Given the description of an element on the screen output the (x, y) to click on. 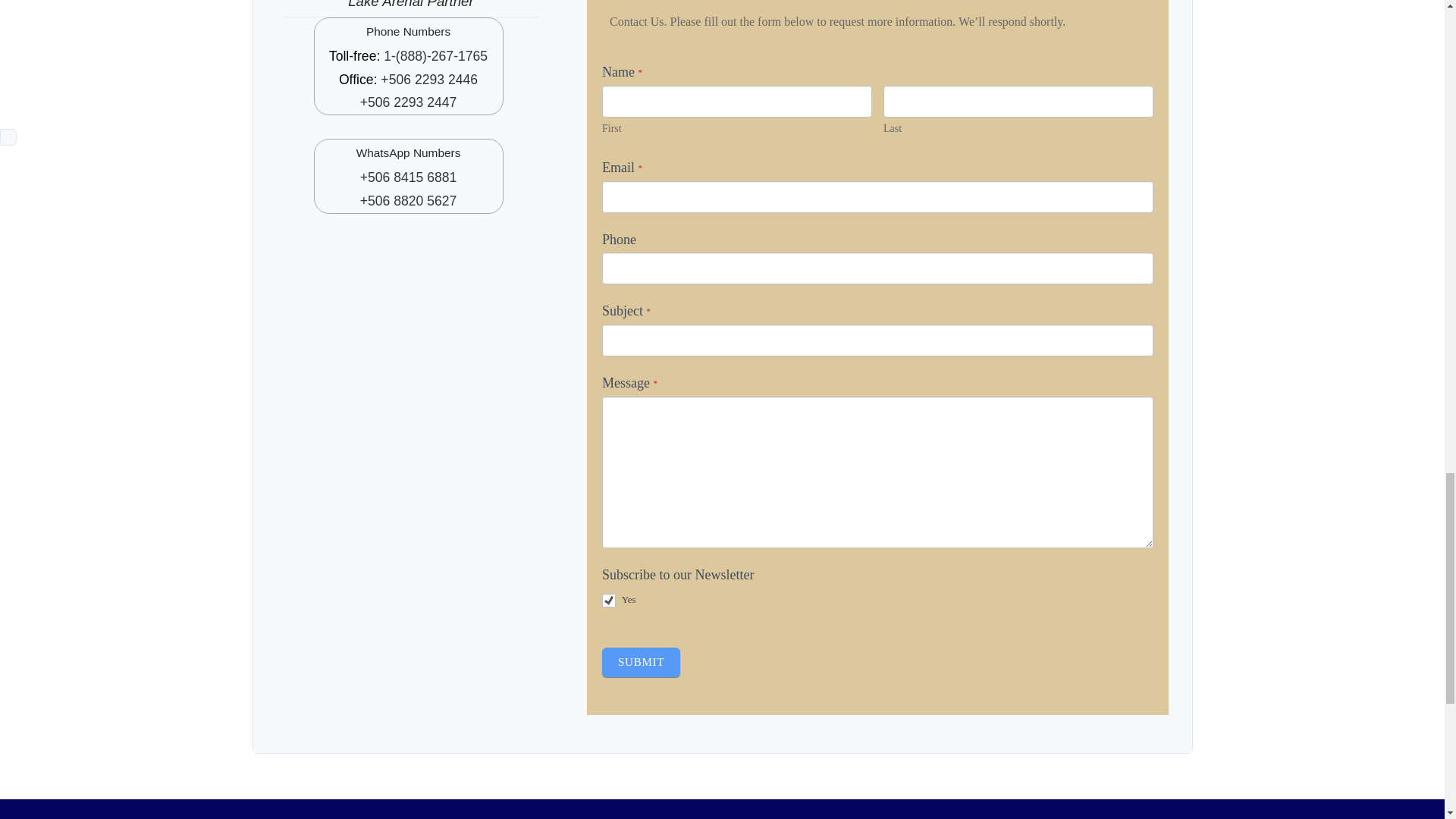
Yes (608, 600)
